Given the description of an element on the screen output the (x, y) to click on. 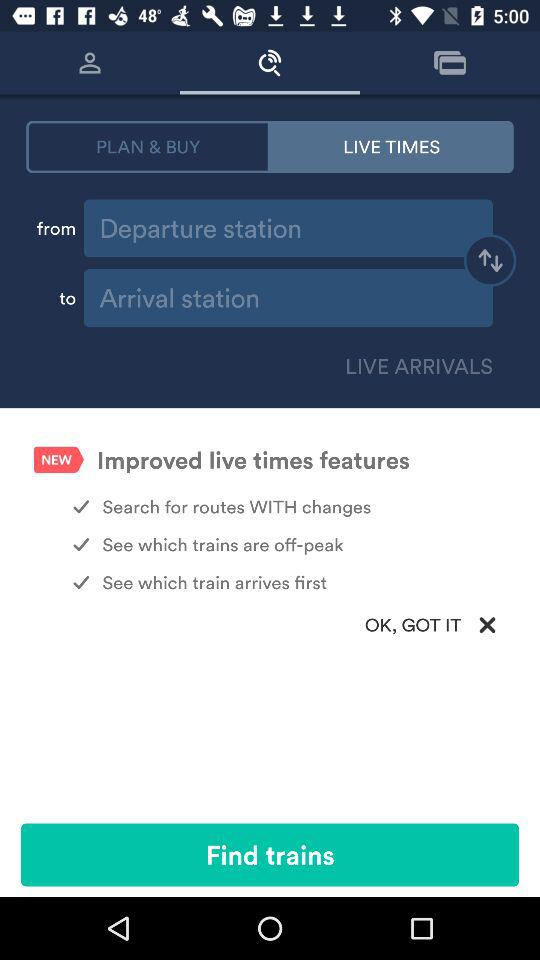
turn off the item above find trains icon (269, 624)
